Given the description of an element on the screen output the (x, y) to click on. 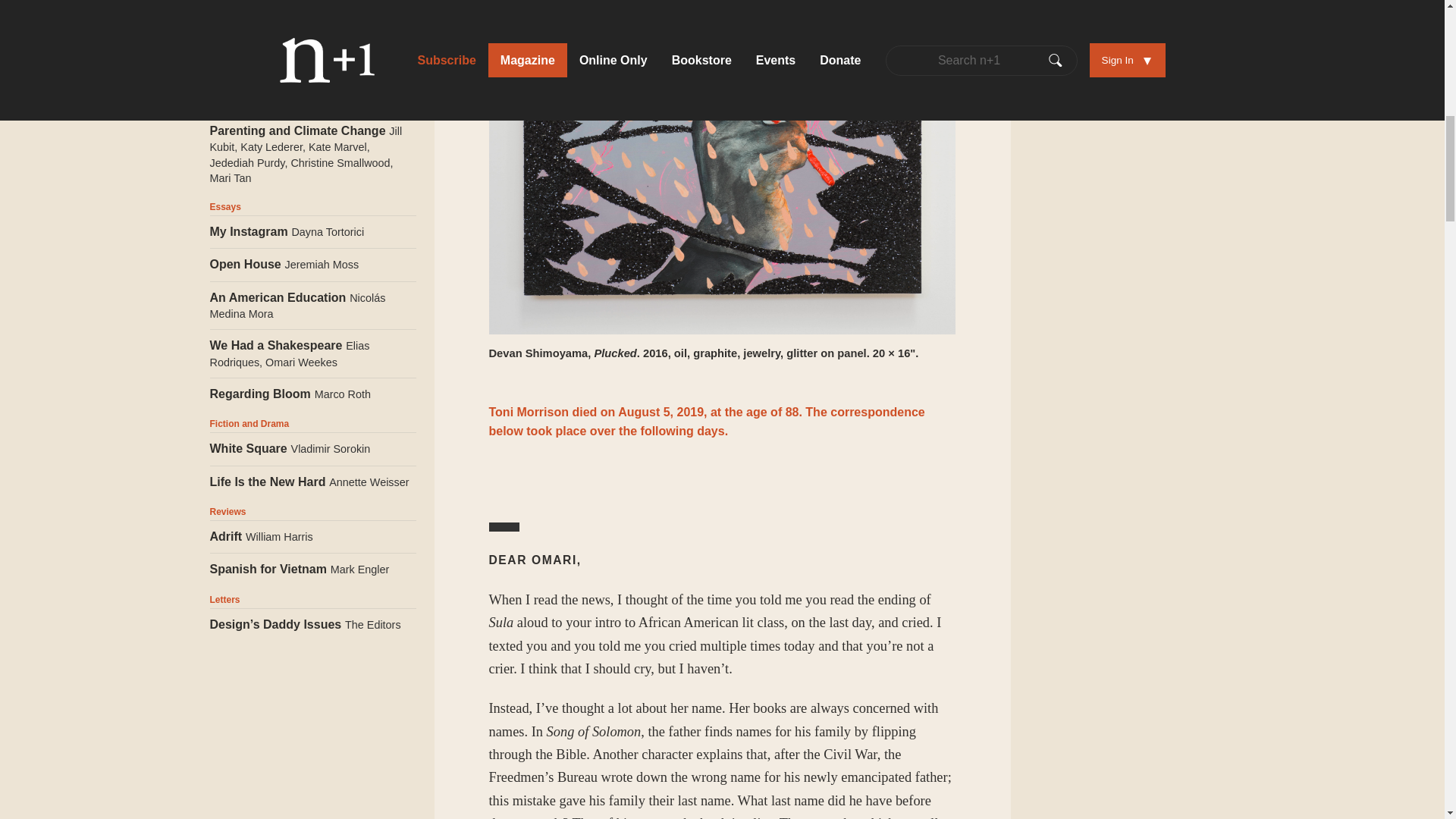
AdriftWilliam Harris (311, 536)
Open HouseJeremiah Moss (311, 264)
Life Is the New HardAnnette Weisser (311, 481)
The Custom of the CapitolNausicaa Renner (311, 91)
An American Education (311, 305)
Life Is the New Hard (311, 481)
Adrift (311, 536)
White SquareVladimir Sorokin (311, 449)
White Square (311, 449)
My Instagram (311, 232)
The Custom of the Capitol (311, 91)
Regarding Bloom (311, 394)
Spanish for VietnamMark Engler (311, 569)
Regarding BloomMarco Roth (311, 394)
